Given the description of an element on the screen output the (x, y) to click on. 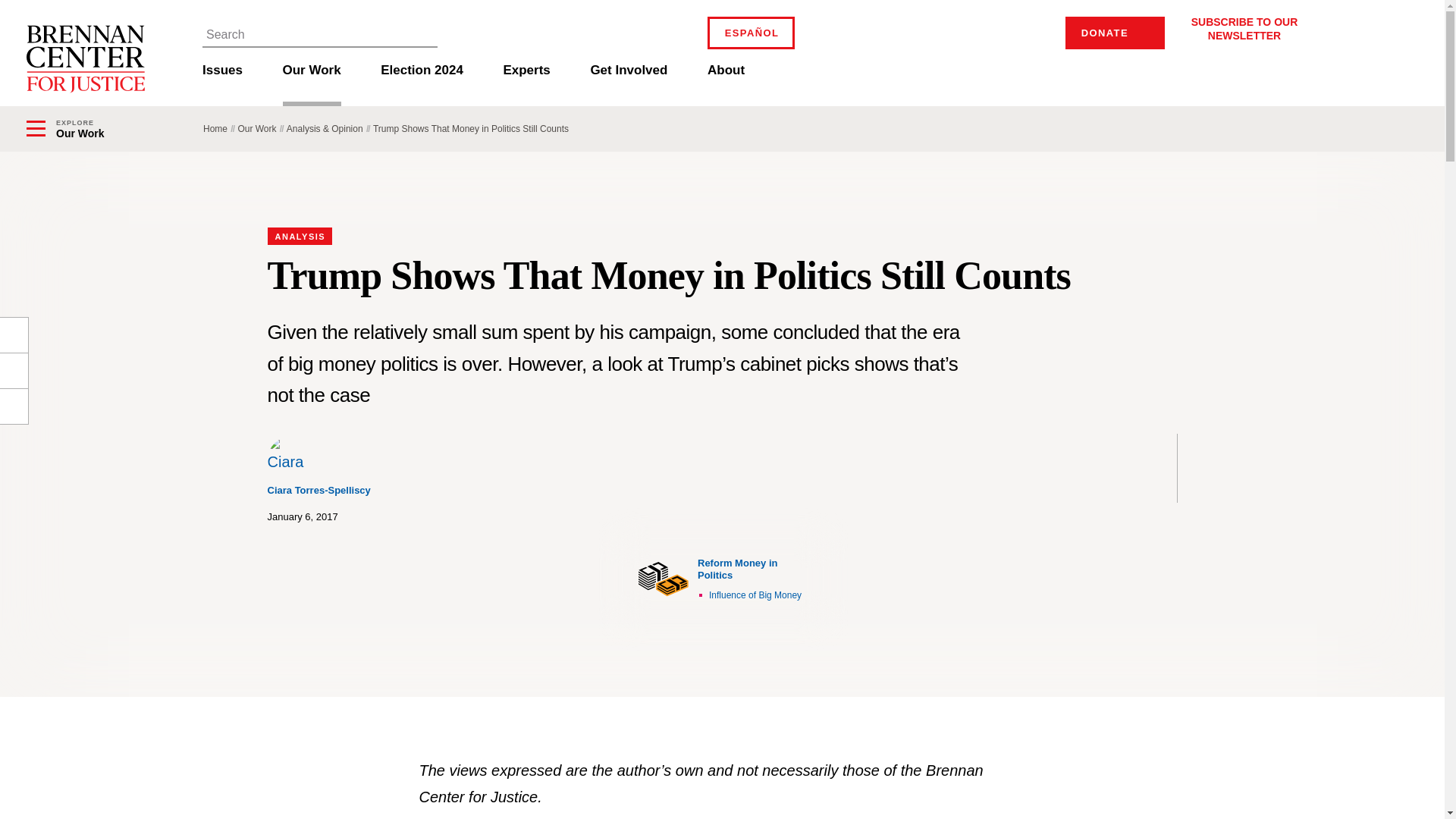
Experts (526, 82)
Our Work (311, 82)
DONATE (1114, 32)
Election 2024 (421, 82)
Get Involved (627, 82)
Coverage of the 2024 U.S. Election (421, 82)
Search (424, 32)
SUBSCRIBE TO OUR NEWSLETTER (1244, 28)
